Given the description of an element on the screen output the (x, y) to click on. 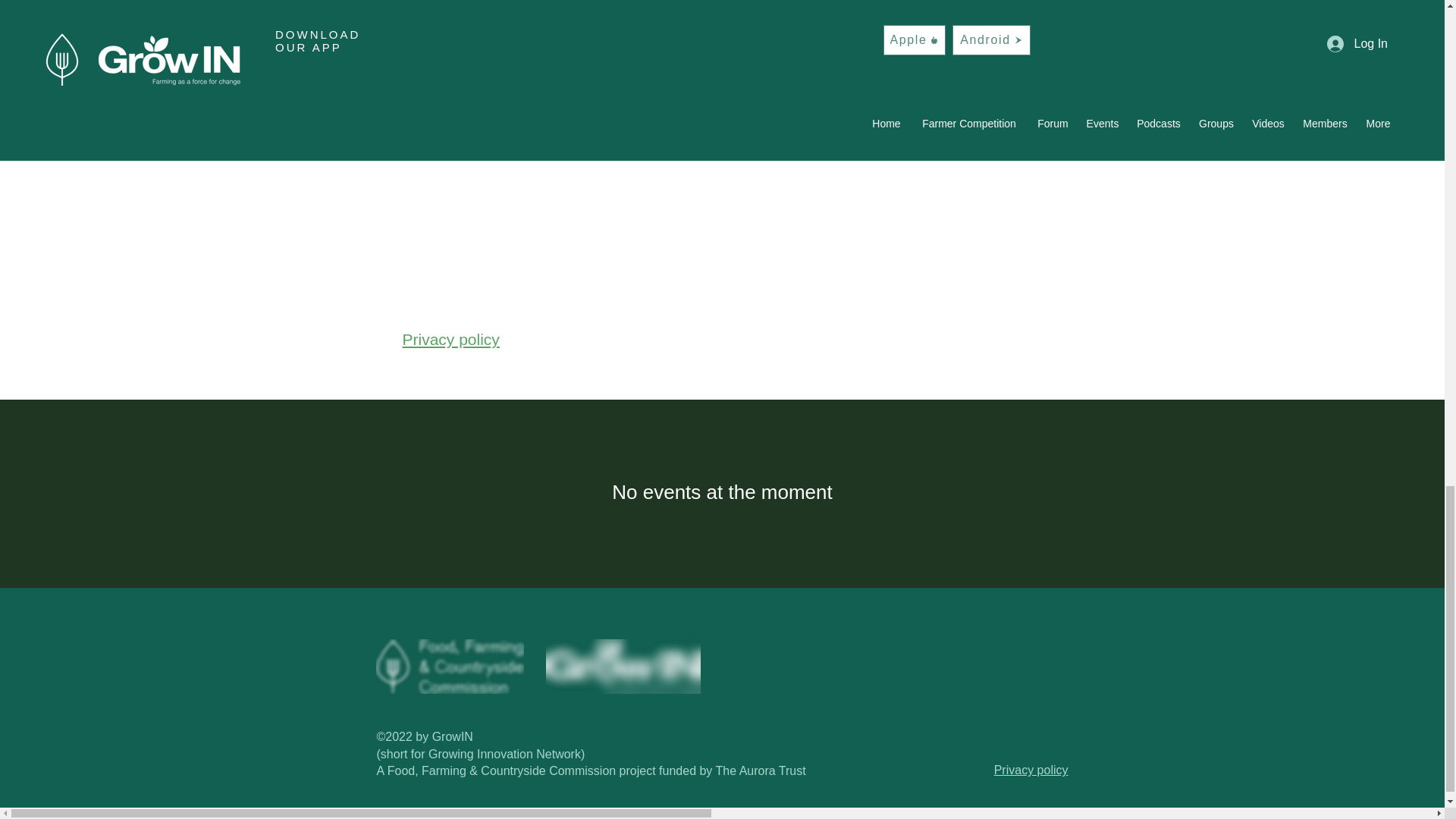
Privacy policy (450, 339)
Privacy policy (1031, 769)
GROW IN LOGO WHT.png (623, 666)
FFCC-logo-reversed.png (449, 666)
